Given the description of an element on the screen output the (x, y) to click on. 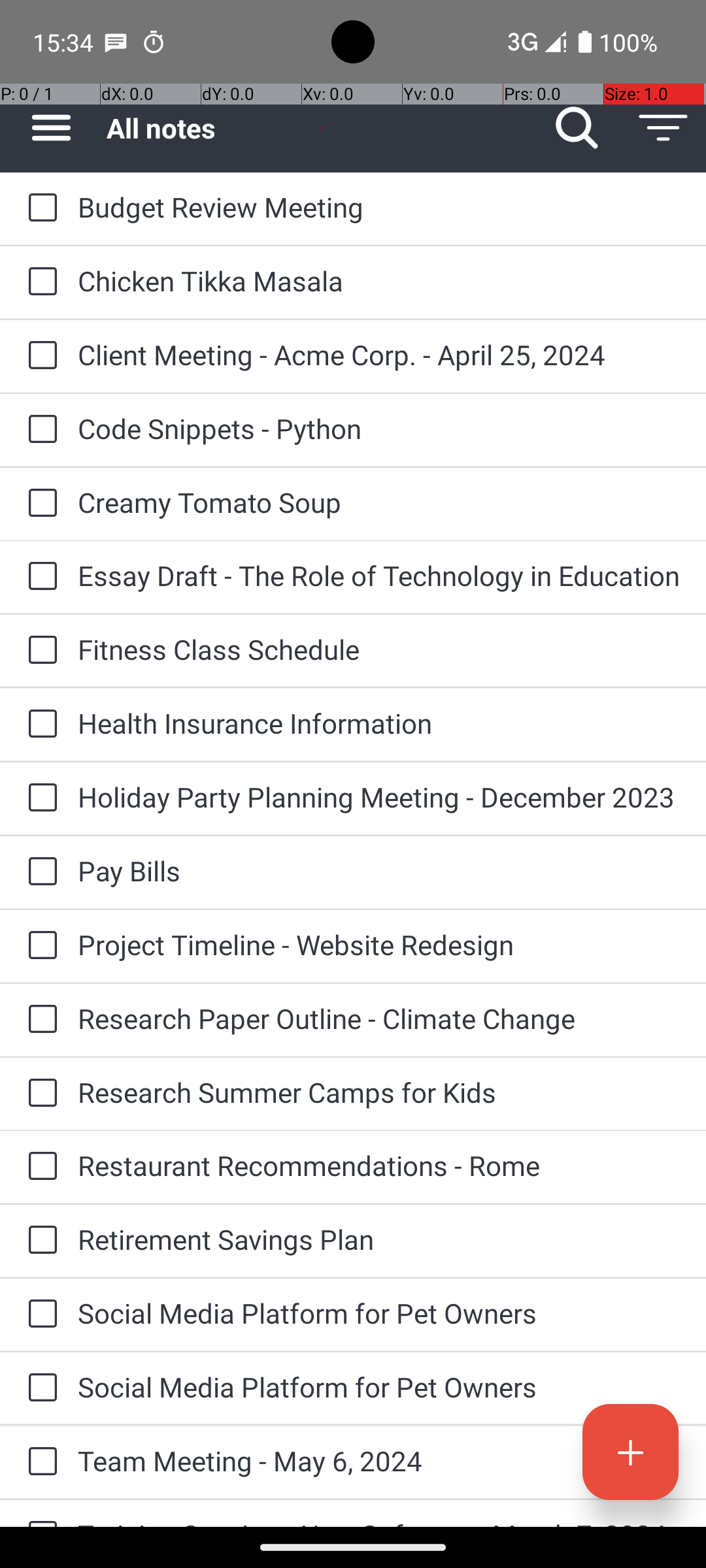
to-do: Budget Review Meeting Element type: android.widget.CheckBox (38, 208)
Budget Review Meeting Element type: android.widget.TextView (378, 206)
to-do: Chicken Tikka Masala Element type: android.widget.CheckBox (38, 282)
Chicken Tikka Masala Element type: android.widget.TextView (378, 280)
to-do: Client Meeting - Acme Corp. - April 25, 2024 Element type: android.widget.CheckBox (38, 356)
Client Meeting - Acme Corp. - April 25, 2024 Element type: android.widget.TextView (378, 354)
to-do: Code Snippets - Python Element type: android.widget.CheckBox (38, 429)
Code Snippets - Python Element type: android.widget.TextView (378, 427)
to-do: Creamy Tomato Soup Element type: android.widget.CheckBox (38, 503)
Creamy Tomato Soup Element type: android.widget.TextView (378, 501)
to-do: Fitness Class Schedule Element type: android.widget.CheckBox (38, 650)
Fitness Class Schedule Element type: android.widget.TextView (378, 648)
to-do: Health Insurance Information Element type: android.widget.CheckBox (38, 724)
Health Insurance Information Element type: android.widget.TextView (378, 722)
to-do: Holiday Party Planning Meeting - December 2023 Element type: android.widget.CheckBox (38, 798)
Holiday Party Planning Meeting - December 2023 Element type: android.widget.TextView (378, 796)
to-do: Pay Bills Element type: android.widget.CheckBox (38, 872)
Pay Bills Element type: android.widget.TextView (378, 870)
to-do: Project Timeline - Website Redesign Element type: android.widget.CheckBox (38, 946)
Project Timeline - Website Redesign Element type: android.widget.TextView (378, 944)
to-do: Research Paper Outline - Climate Change Element type: android.widget.CheckBox (38, 1019)
Research Paper Outline - Climate Change Element type: android.widget.TextView (378, 1017)
to-do: Research Summer Camps for Kids Element type: android.widget.CheckBox (38, 1093)
Research Summer Camps for Kids Element type: android.widget.TextView (378, 1091)
to-do: Restaurant Recommendations - Rome Element type: android.widget.CheckBox (38, 1166)
Restaurant Recommendations - Rome Element type: android.widget.TextView (378, 1164)
to-do: Retirement Savings Plan Element type: android.widget.CheckBox (38, 1240)
Retirement Savings Plan Element type: android.widget.TextView (378, 1238)
to-do: Social Media Platform for Pet Owners Element type: android.widget.CheckBox (38, 1314)
Social Media Platform for Pet Owners Element type: android.widget.TextView (378, 1312)
to-do: Team Meeting - May 6, 2024 Element type: android.widget.CheckBox (38, 1462)
Team Meeting - May 6, 2024 Element type: android.widget.TextView (378, 1460)
to-do: Training Session - New Software - March 7, 2024 Element type: android.widget.CheckBox (38, 1513)
Training Session - New Software - March 7, 2024 Element type: android.widget.TextView (378, 1520)
